Given the description of an element on the screen output the (x, y) to click on. 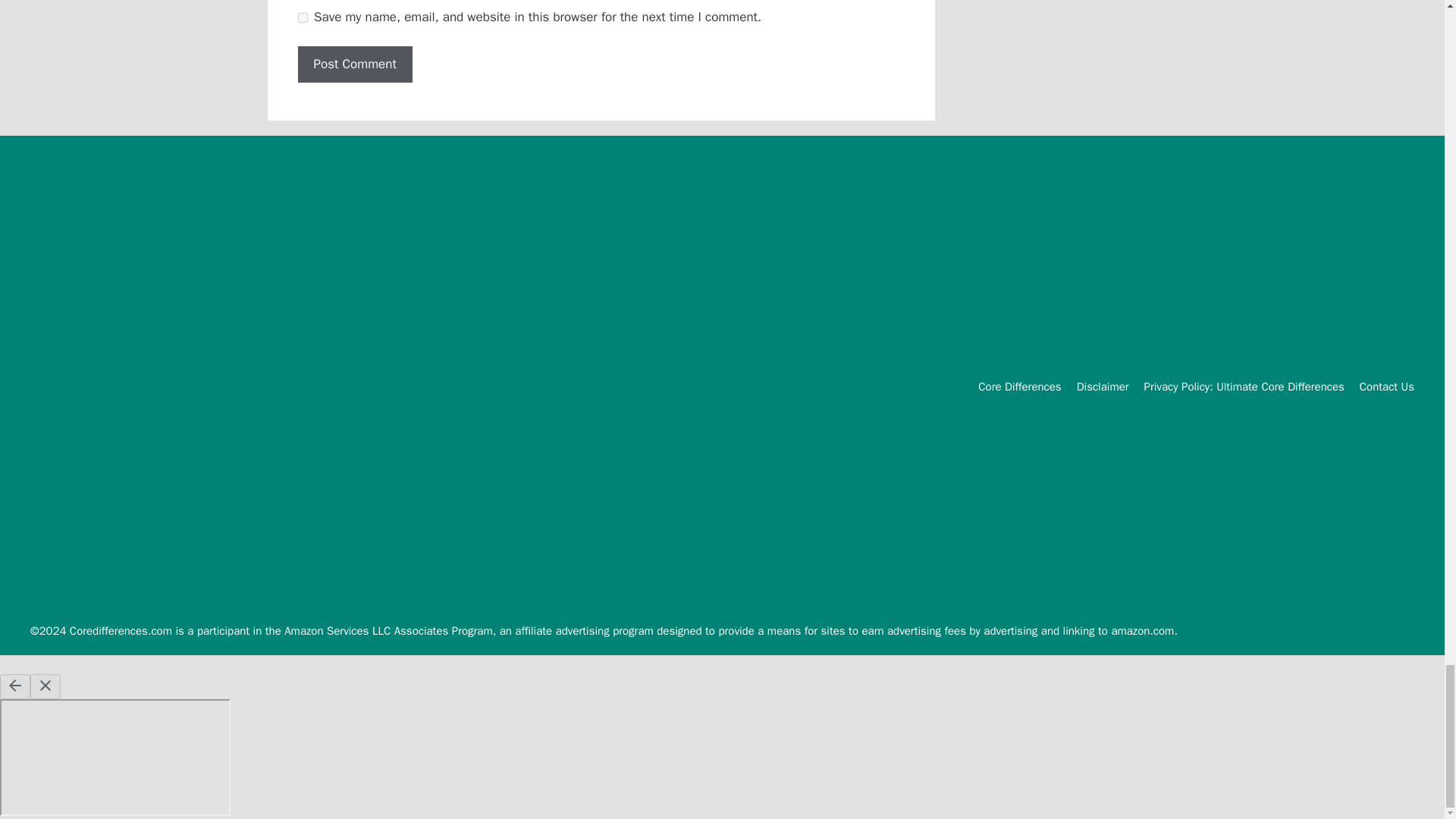
Privacy Policy: Ultimate Core Differences (1243, 386)
Disclaimer (1103, 386)
yes (302, 17)
Contact Us (1386, 386)
Post Comment (354, 63)
Core Differences (1019, 386)
Post Comment (354, 63)
